Given the description of an element on the screen output the (x, y) to click on. 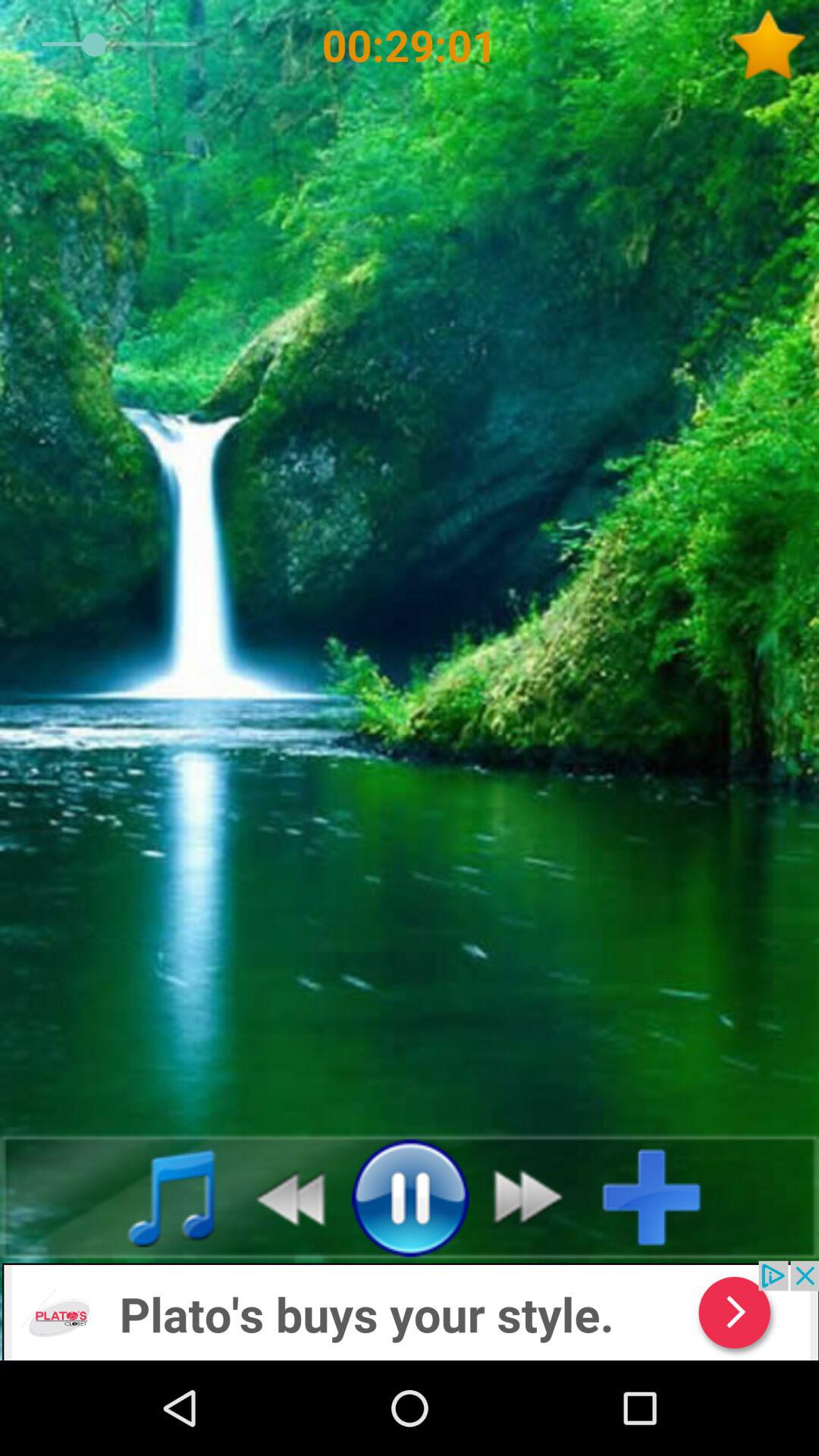
advertisement bar (409, 1310)
